Given the description of an element on the screen output the (x, y) to click on. 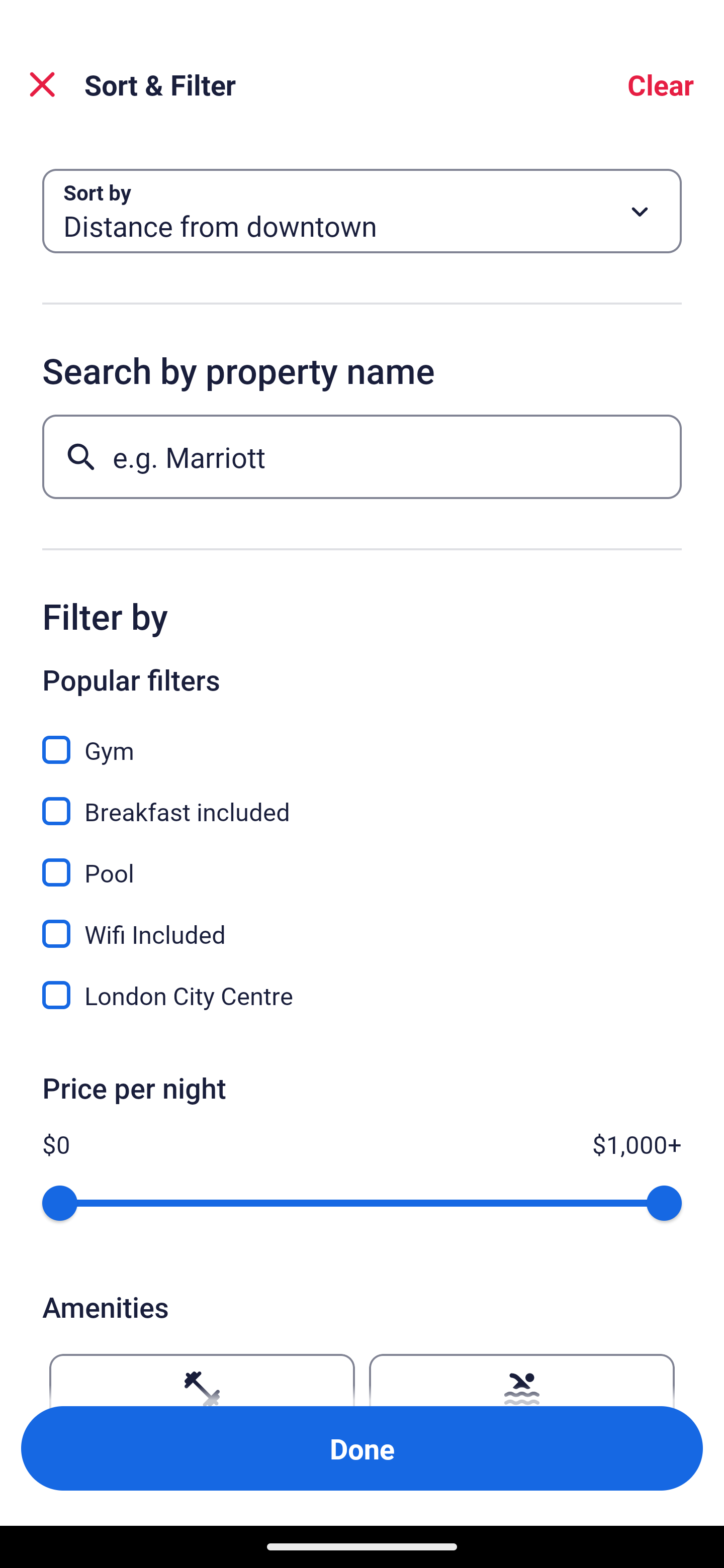
Close Sort and Filter (42, 84)
Clear (660, 84)
Sort by Button Distance from downtown (361, 211)
e.g. Marriott Button (361, 455)
Gym, Gym (361, 738)
Breakfast included, Breakfast included (361, 800)
Pool, Pool (361, 861)
Wifi Included, Wifi Included (361, 922)
London City Centre, London City Centre (361, 995)
Apply and close Sort and Filter Done (361, 1448)
